Given the description of an element on the screen output the (x, y) to click on. 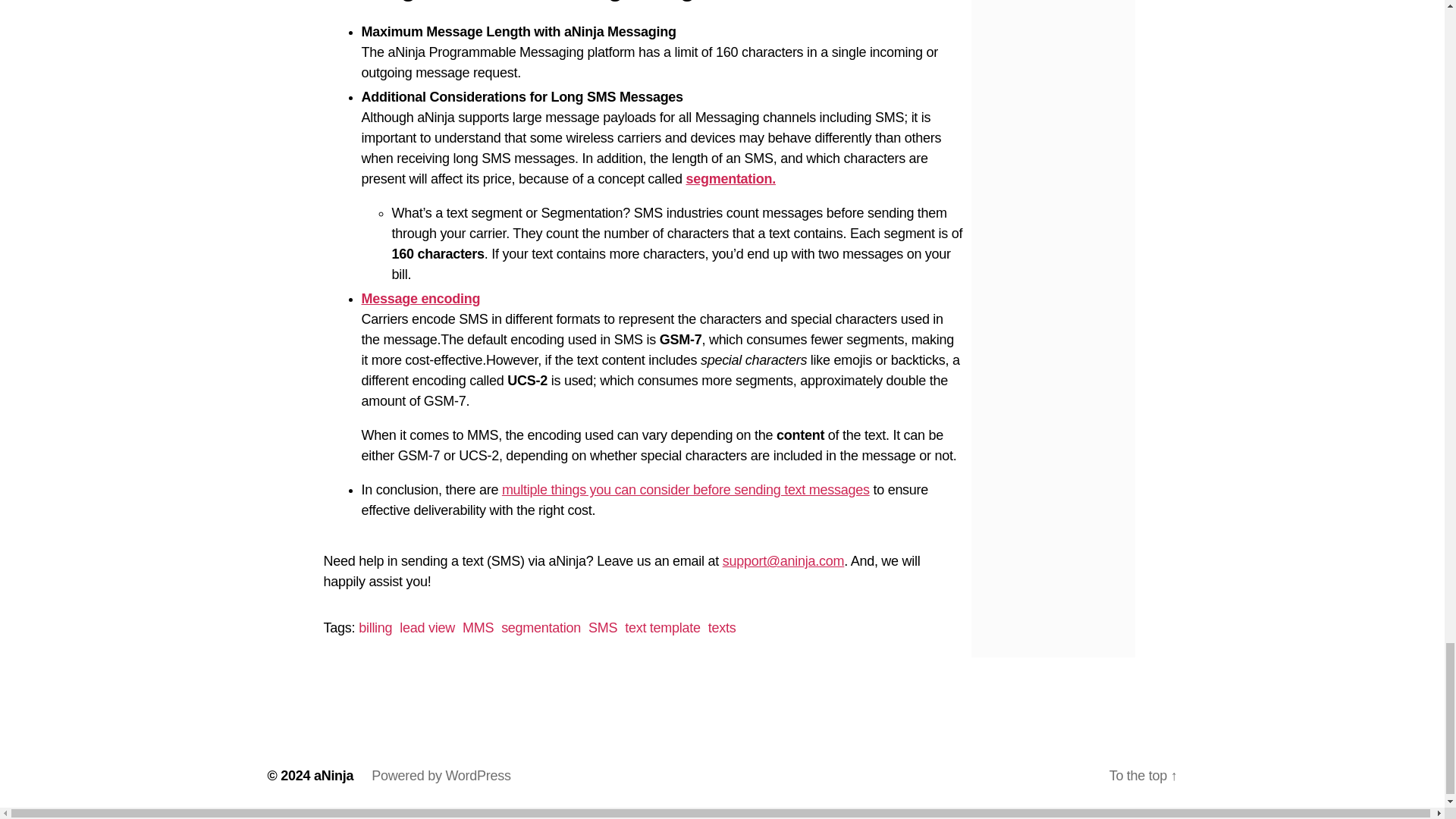
segmentation (540, 627)
billing (374, 627)
aNinja (333, 775)
SMS (602, 627)
MMS (478, 627)
segmentation. (730, 178)
Powered by WordPress (441, 775)
text template (662, 627)
Message encoding (420, 298)
